Given the description of an element on the screen output the (x, y) to click on. 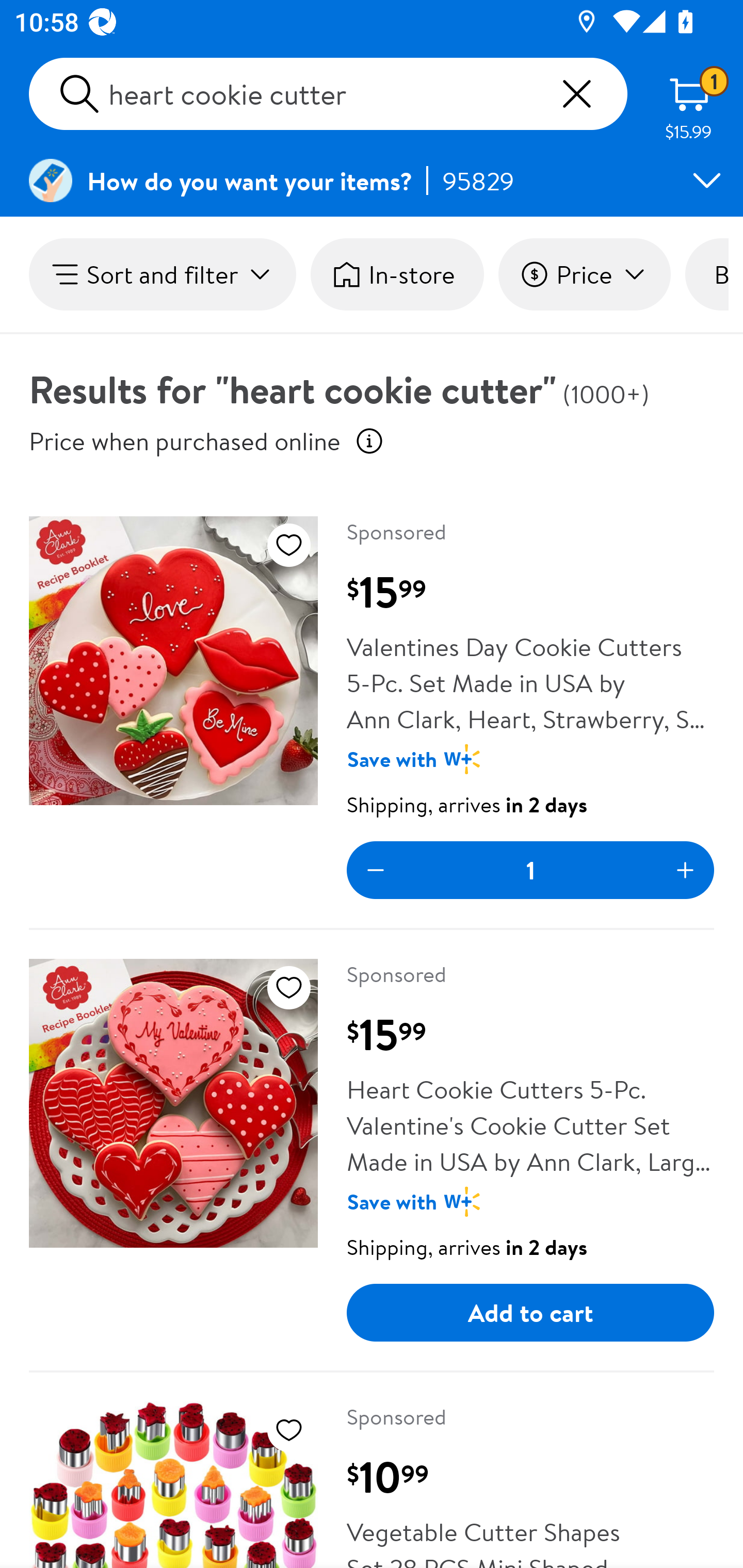
heart cookie cutter Clear Text (327, 94)
Clear Text (576, 94)
Price when purchased online (184, 440)
Price when purchased online (369, 440)
Add to cart (530, 1313)
